Given the description of an element on the screen output the (x, y) to click on. 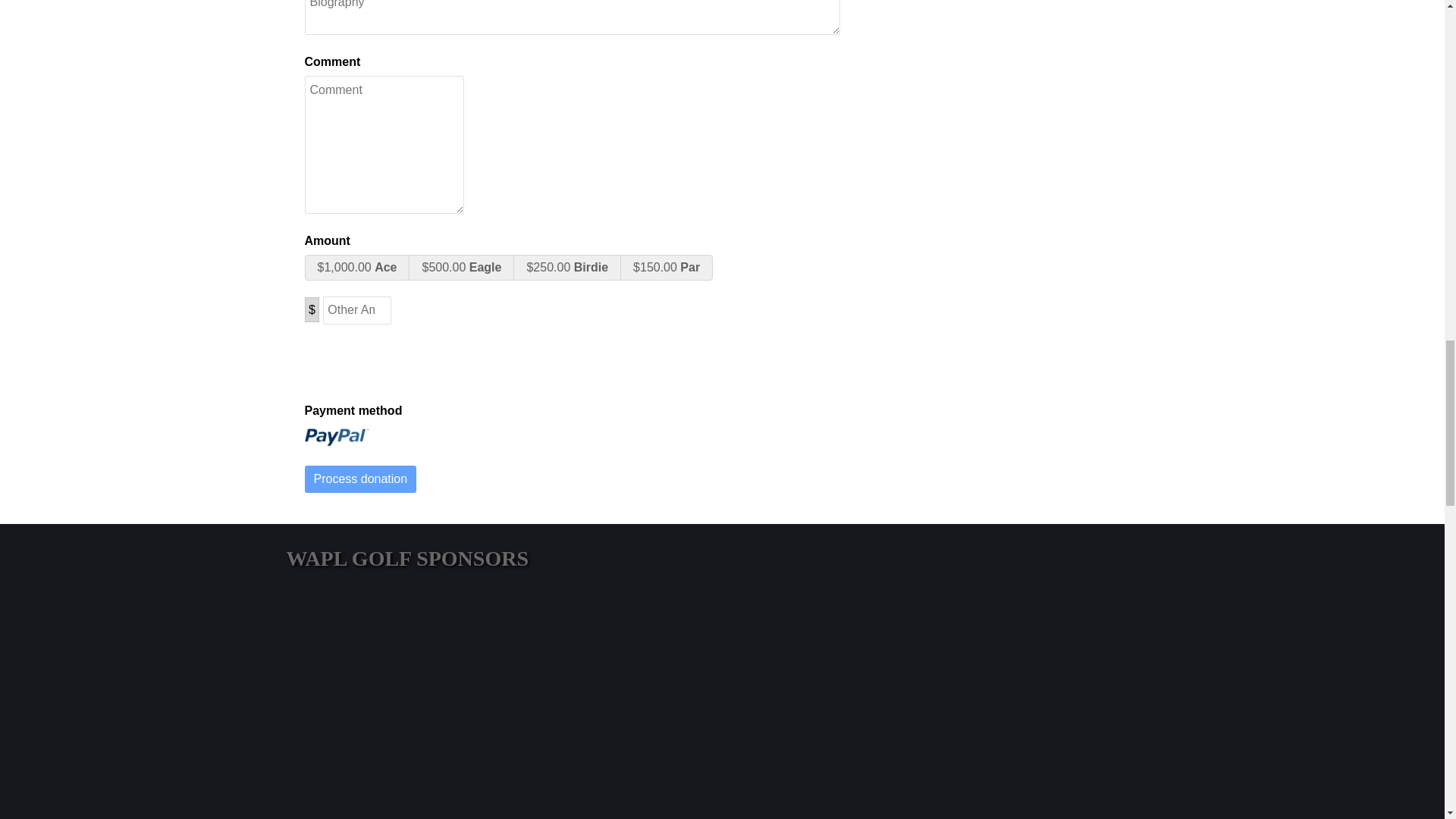
Comment (332, 62)
Process donation (360, 479)
